Given the description of an element on the screen output the (x, y) to click on. 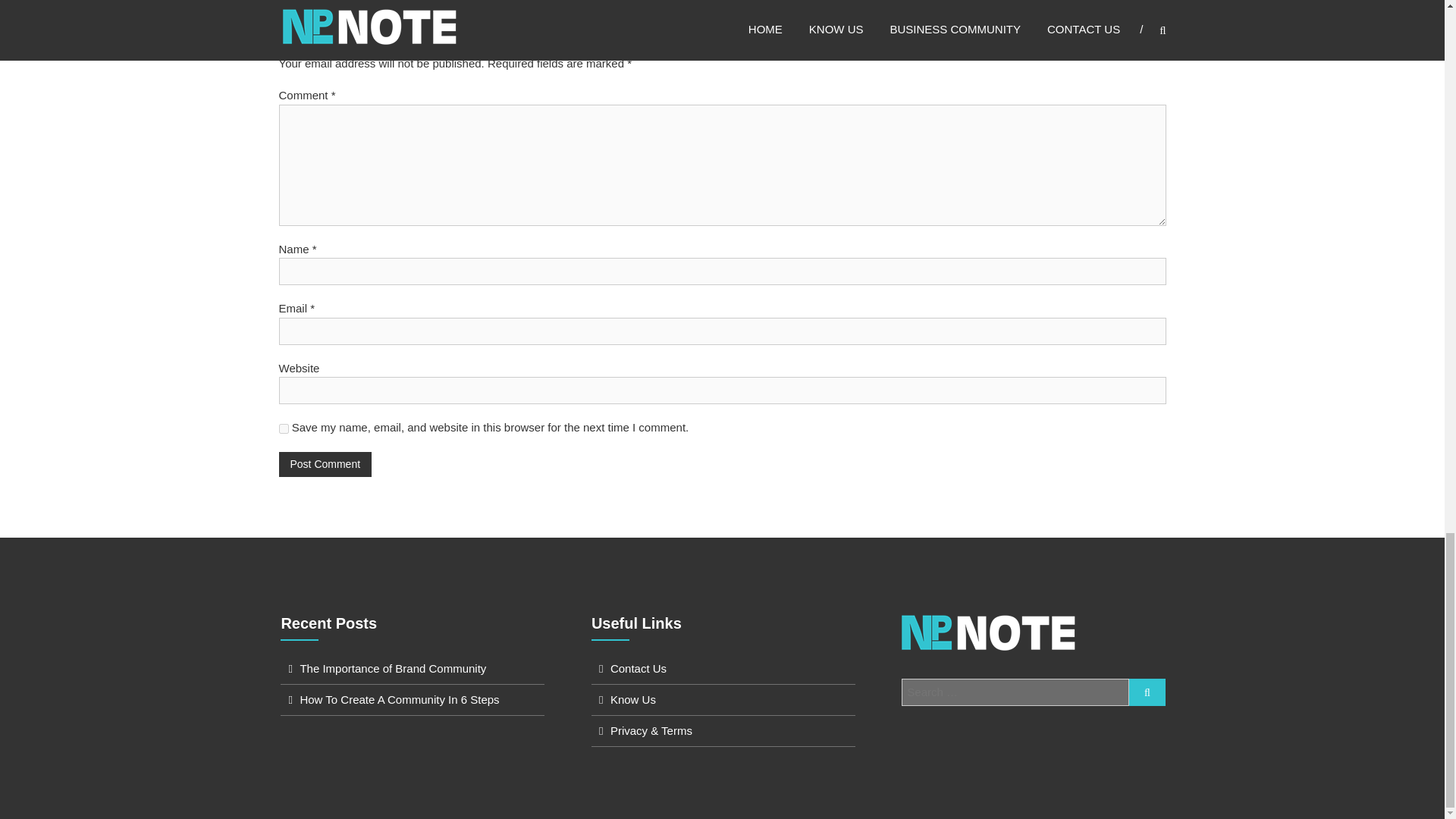
yes (283, 429)
Contact Us (638, 667)
The Importance of Brand Community (392, 667)
How To Create A Community In 6 Steps (399, 698)
Post Comment (325, 464)
Know Us (633, 698)
Post Comment (325, 464)
Search (1147, 691)
